Given the description of an element on the screen output the (x, y) to click on. 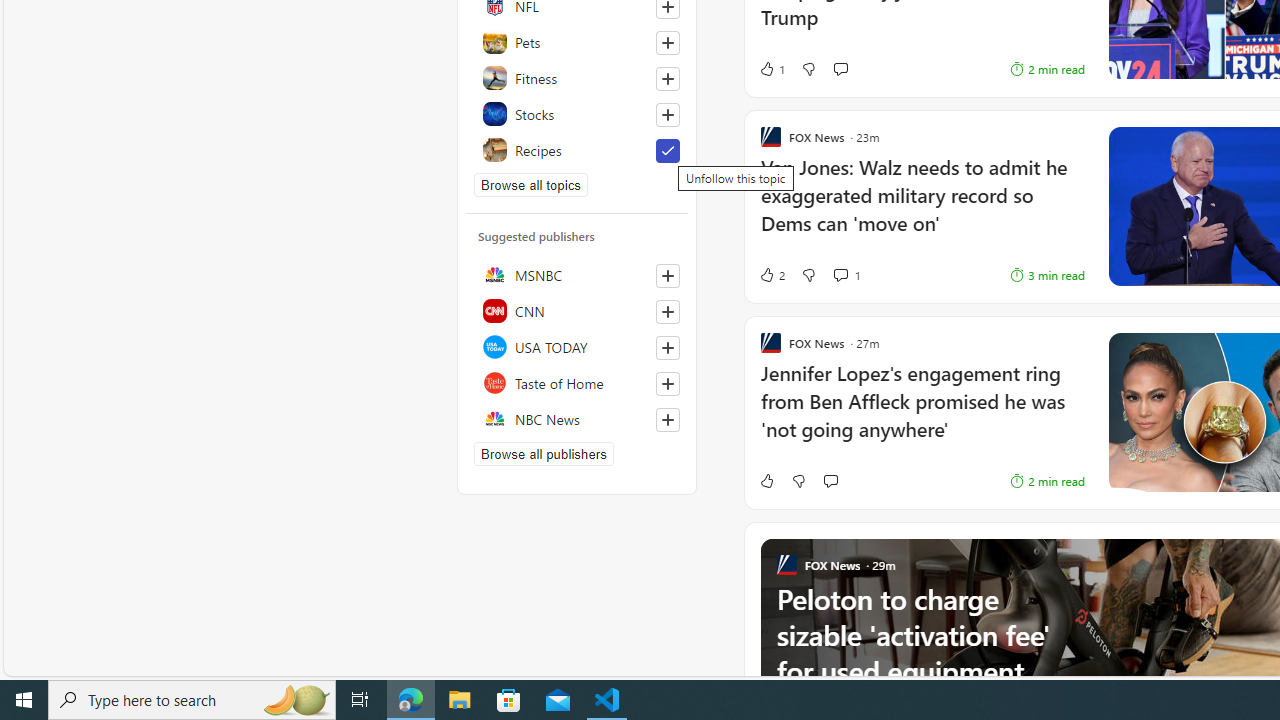
Follow this source (667, 419)
1 Like (771, 68)
2 Like (771, 274)
Unfollow this topic (667, 150)
Follow this topic (667, 114)
CNN (577, 310)
Follow this source (667, 420)
Browse all publishers (543, 453)
Fitness (577, 78)
Like (766, 480)
USA TODAY (577, 346)
NBC News (577, 418)
